Given the description of an element on the screen output the (x, y) to click on. 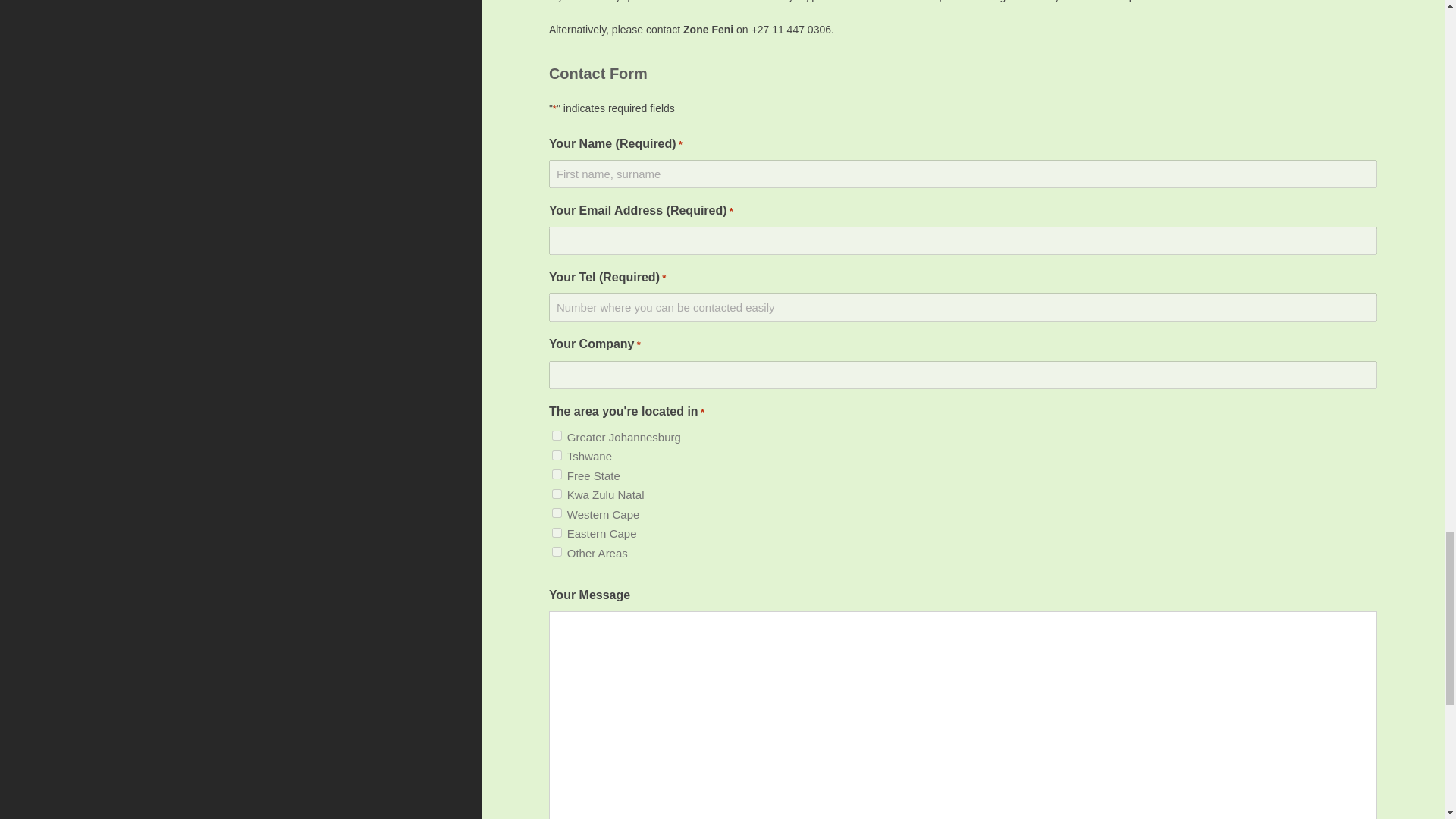
Other Areas (556, 551)
Greater Johannesburg (556, 435)
Free State (556, 474)
Western Cape (556, 512)
Tshwane (556, 455)
Kwa Zulu Natal (556, 493)
Eastern Cape (556, 532)
